Given the description of an element on the screen output the (x, y) to click on. 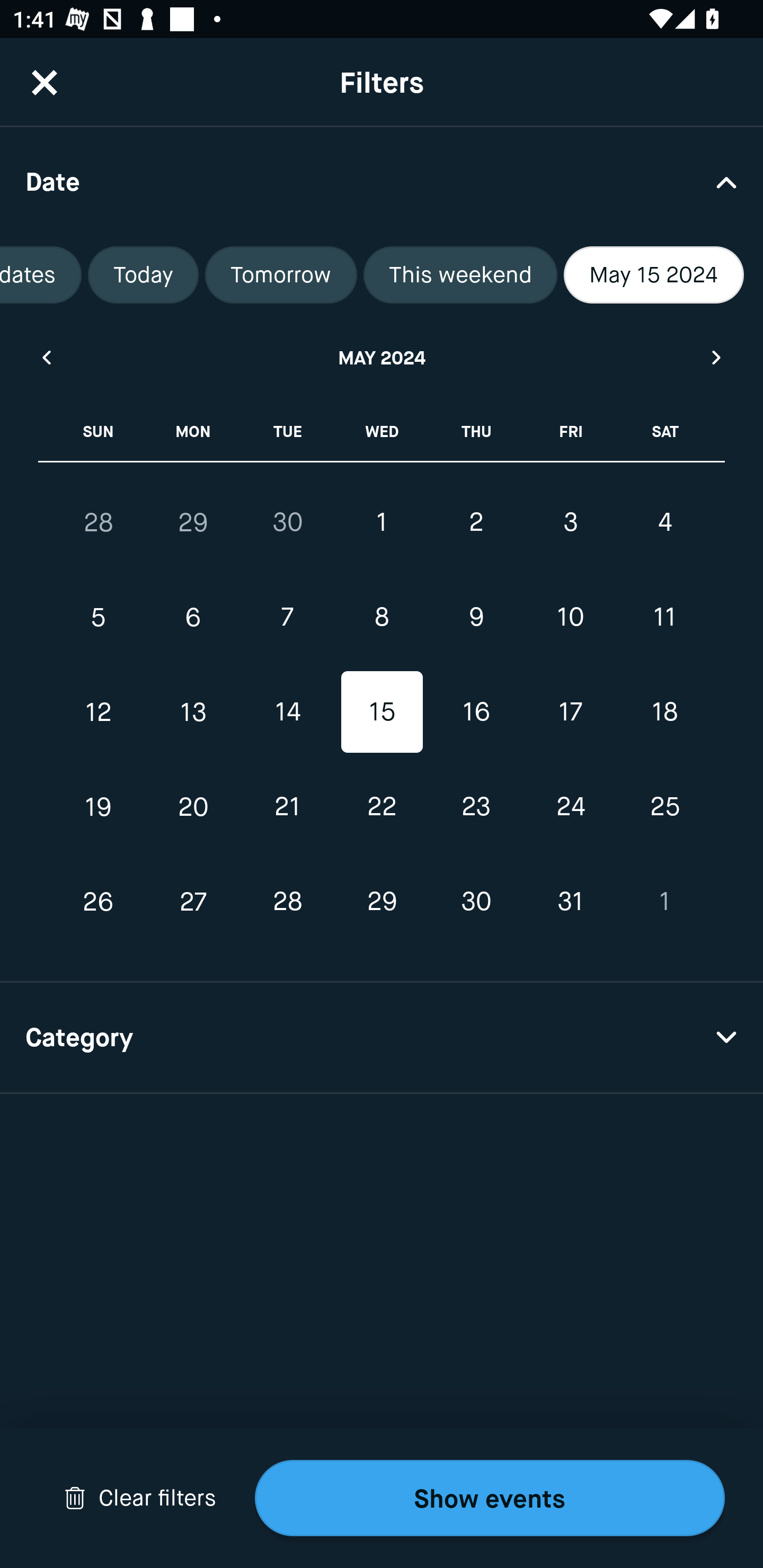
CloseButton (44, 82)
Date Drop Down Arrow (381, 181)
All dates (40, 274)
Today (142, 274)
Tomorrow (281, 274)
This weekend (460, 274)
May 15 2024 (653, 274)
Previous (45, 357)
Next (717, 357)
28 (98, 522)
29 (192, 522)
30 (287, 522)
1 (381, 522)
2 (475, 522)
3 (570, 522)
4 (664, 522)
5 (98, 617)
6 (192, 617)
7 (287, 617)
8 (381, 617)
9 (475, 617)
10 (570, 617)
11 (664, 617)
12 (98, 711)
13 (192, 711)
14 (287, 711)
15 (381, 711)
16 (475, 711)
17 (570, 711)
18 (664, 711)
19 (98, 806)
20 (192, 806)
21 (287, 806)
22 (381, 806)
23 (475, 806)
24 (570, 806)
25 (664, 806)
26 (98, 901)
27 (192, 901)
28 (287, 901)
29 (381, 901)
30 (475, 901)
31 (570, 901)
1 (664, 901)
Category Drop Down Arrow (381, 1038)
Drop Down Arrow Clear filters (139, 1497)
Show events (489, 1497)
